Given the description of an element on the screen output the (x, y) to click on. 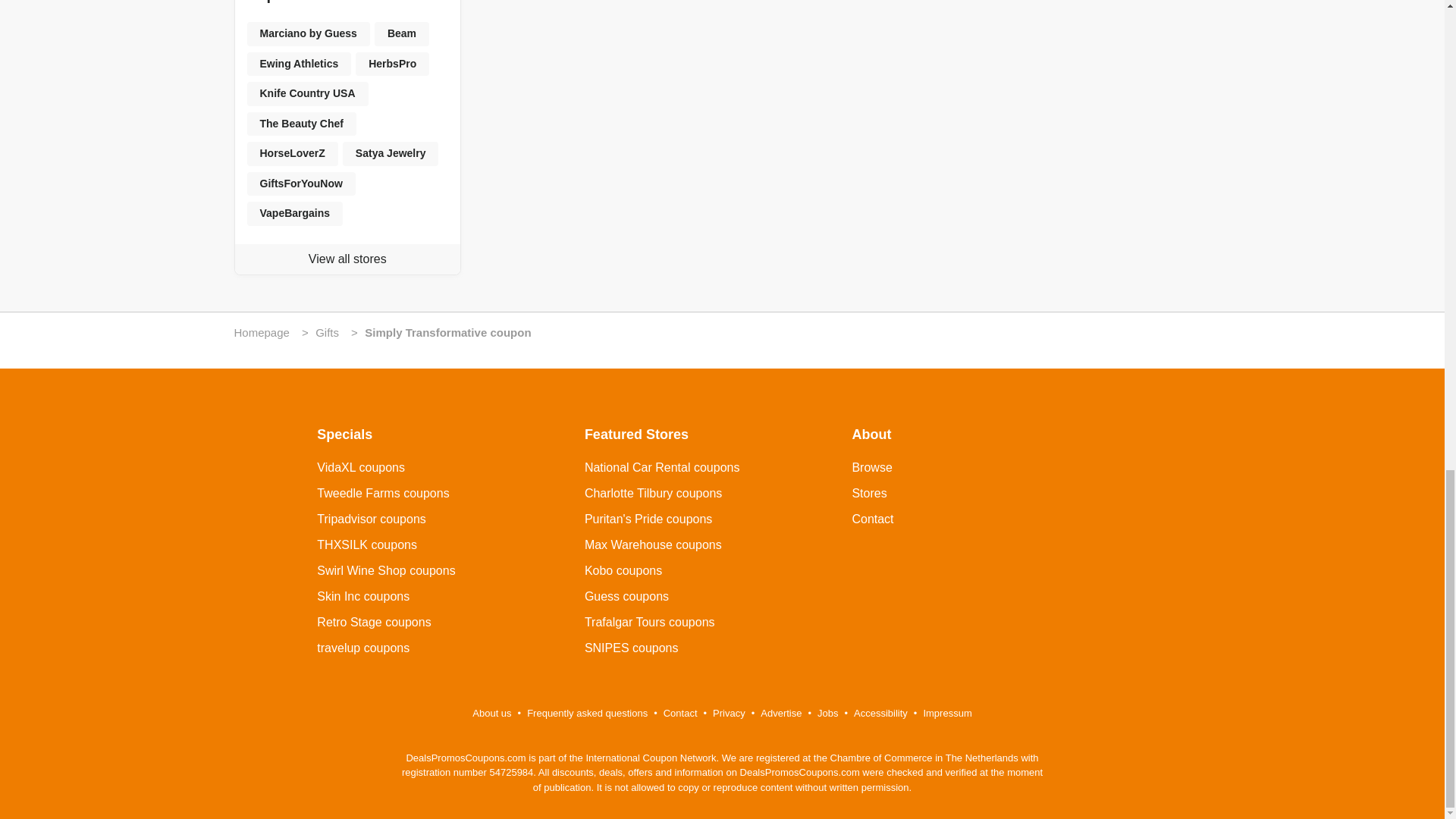
Marciano by Guess coupon (308, 33)
HerbsPro coupon (392, 64)
Beam coupon (401, 33)
Ewing Athletics coupon (299, 64)
Marciano by Guess (308, 33)
Simply Transformative coupon (448, 332)
Gifts (327, 332)
Knife Country USA coupon (307, 93)
Satya Jewelry (390, 153)
Homepage (260, 332)
The Beauty Chef (301, 124)
HorseLoverZ (292, 153)
Beam (401, 33)
View all stores (347, 259)
Knife Country USA (307, 93)
